Given the description of an element on the screen output the (x, y) to click on. 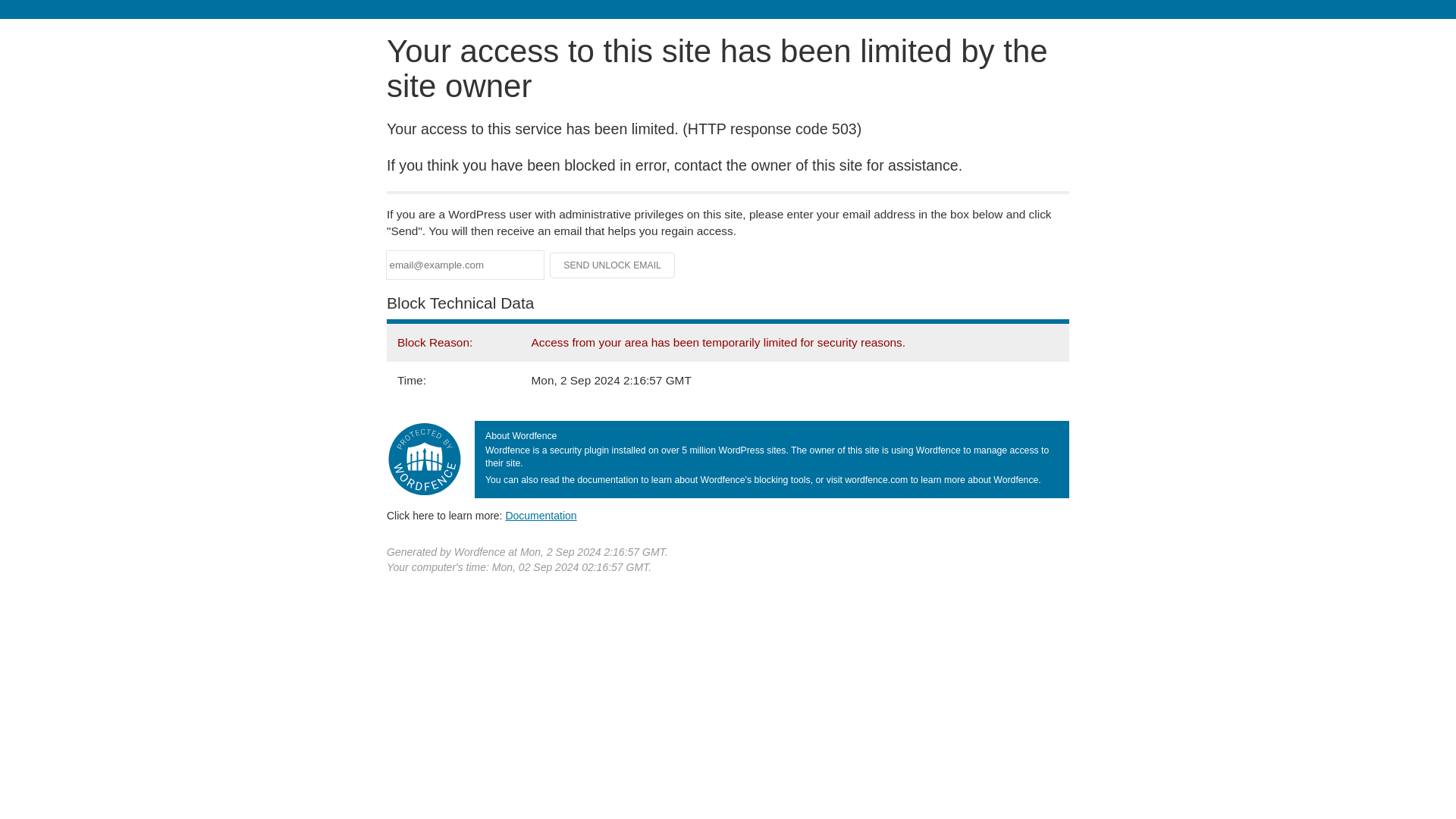
Send Unlock Email (612, 265)
Send Unlock Email (612, 265)
Documentation (540, 515)
